Given the description of an element on the screen output the (x, y) to click on. 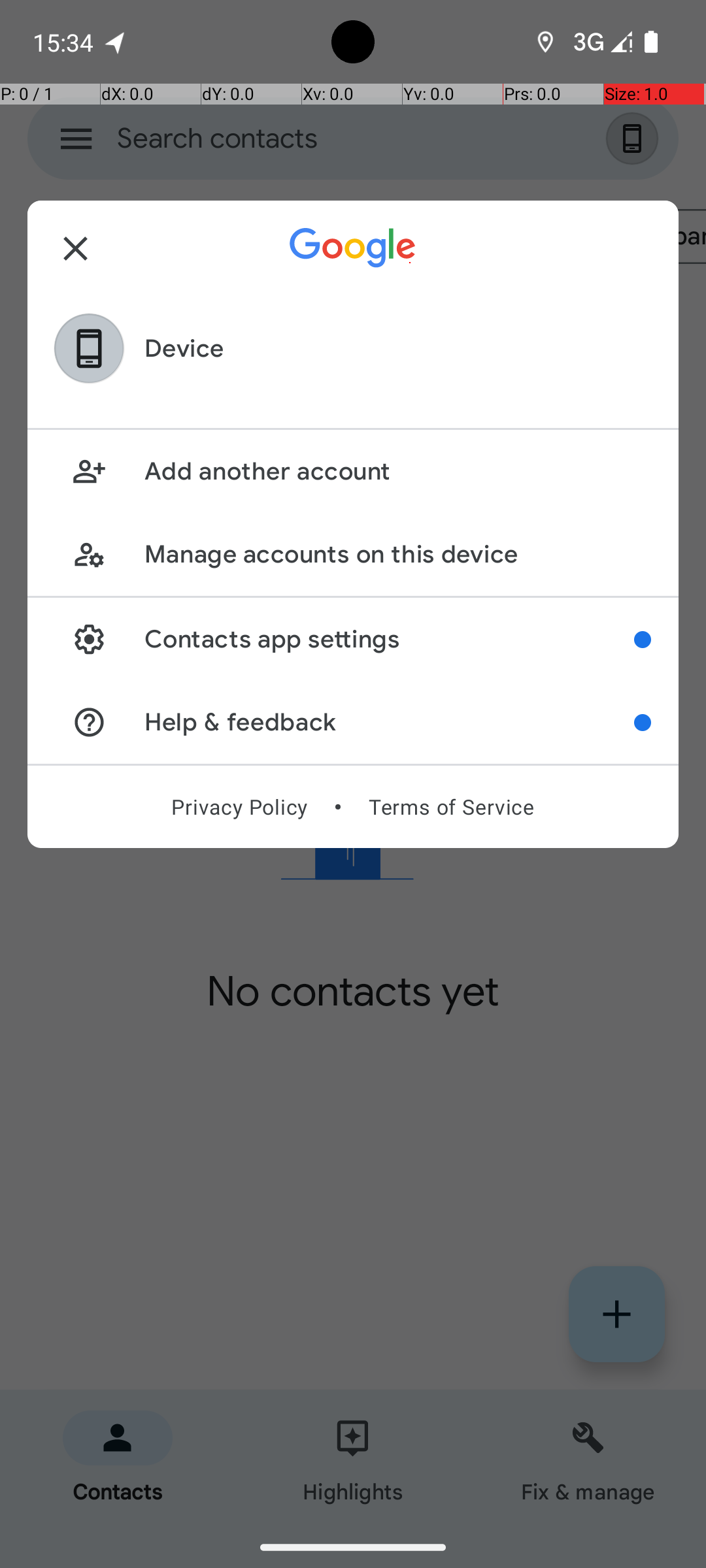
Close Element type: android.widget.ImageView (75, 248)
Privacy Policy Element type: android.widget.Button (239, 806)
Terms of Service Element type: android.widget.Button (450, 806)
Device Element type: android.widget.TextView (184, 348)
Add another account Element type: android.widget.TextView (397, 471)
Manage accounts on this device Element type: android.widget.TextView (397, 554)
Contacts app settings Element type: android.widget.TextView (389, 638)
Now you can find Settings and Help & feedback here Element type: android.widget.FrameLayout (642, 639)
Help & feedback Element type: android.widget.TextView (389, 721)
